Given the description of an element on the screen output the (x, y) to click on. 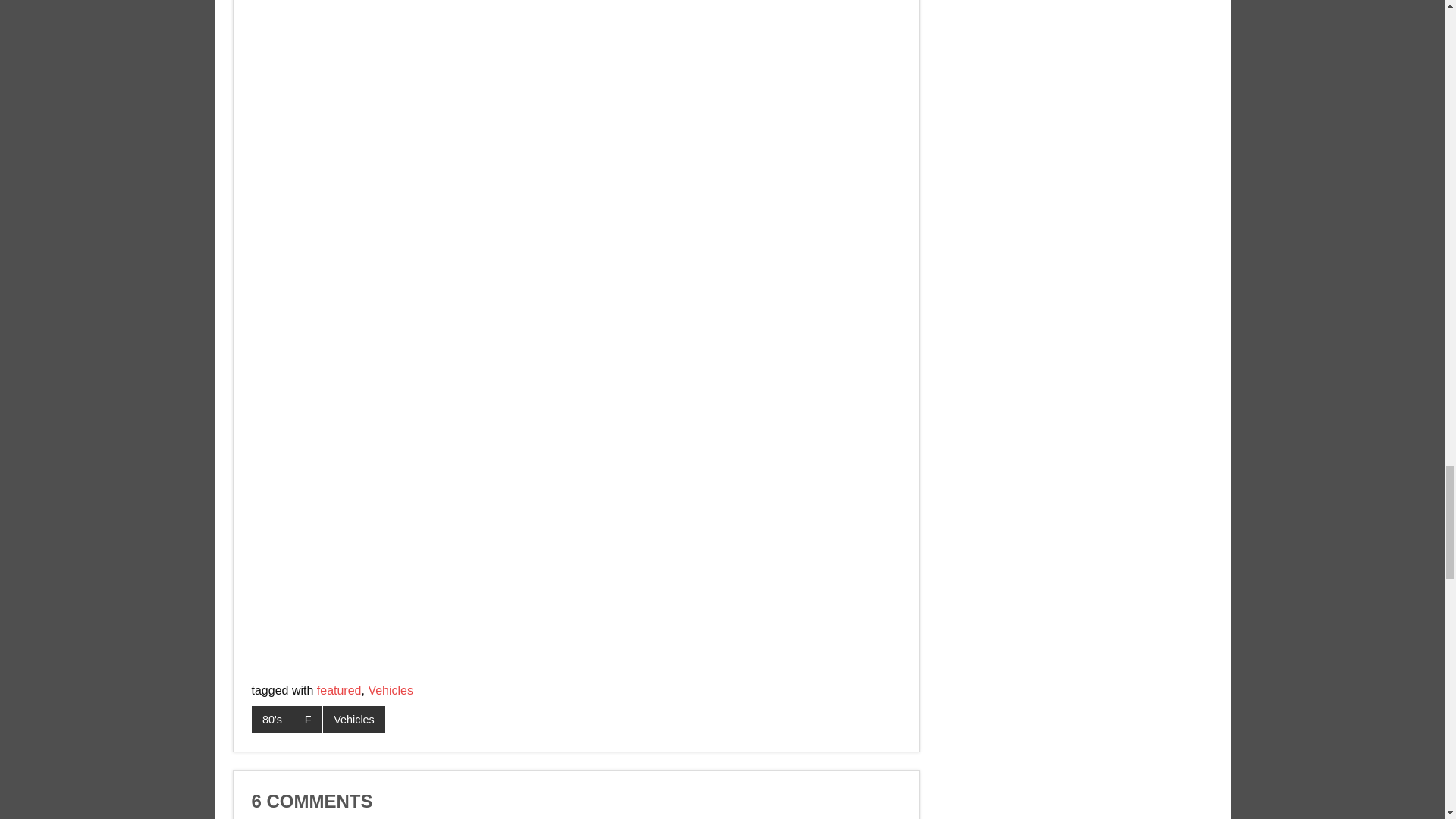
80's (272, 719)
F (307, 719)
featured (339, 689)
Vehicles (354, 719)
Vehicles (390, 689)
